Given the description of an element on the screen output the (x, y) to click on. 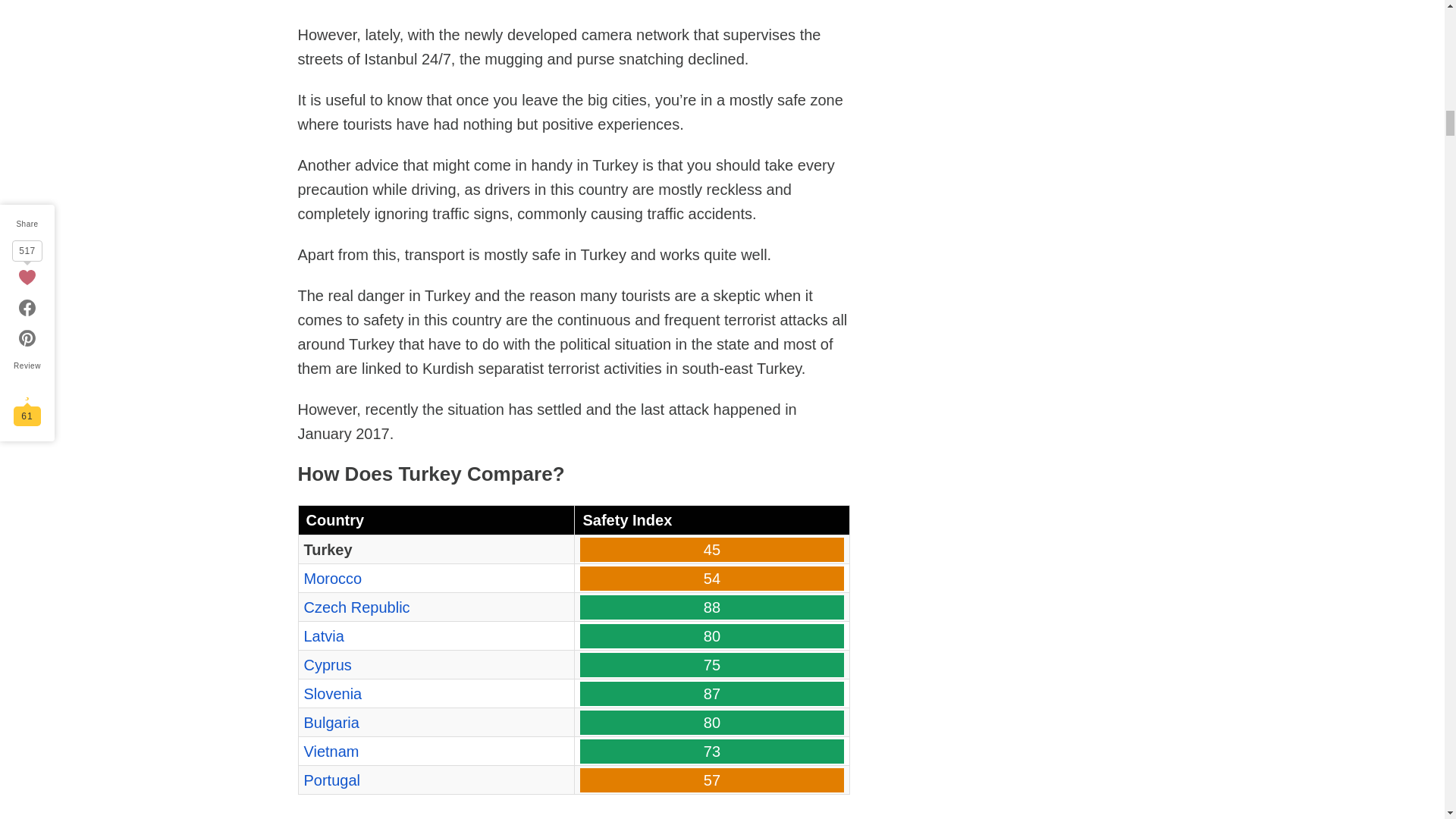
Latvia Safety Review (322, 636)
Bulgaria (330, 722)
Vietnam (330, 751)
Latvia (322, 636)
Slovenia Safety Review (331, 693)
Portugal (330, 780)
Cyprus Safety Review (326, 664)
Vietnam Safety Review (330, 751)
Morocco Safety Review (331, 578)
Morocco (331, 578)
